Given the description of an element on the screen output the (x, y) to click on. 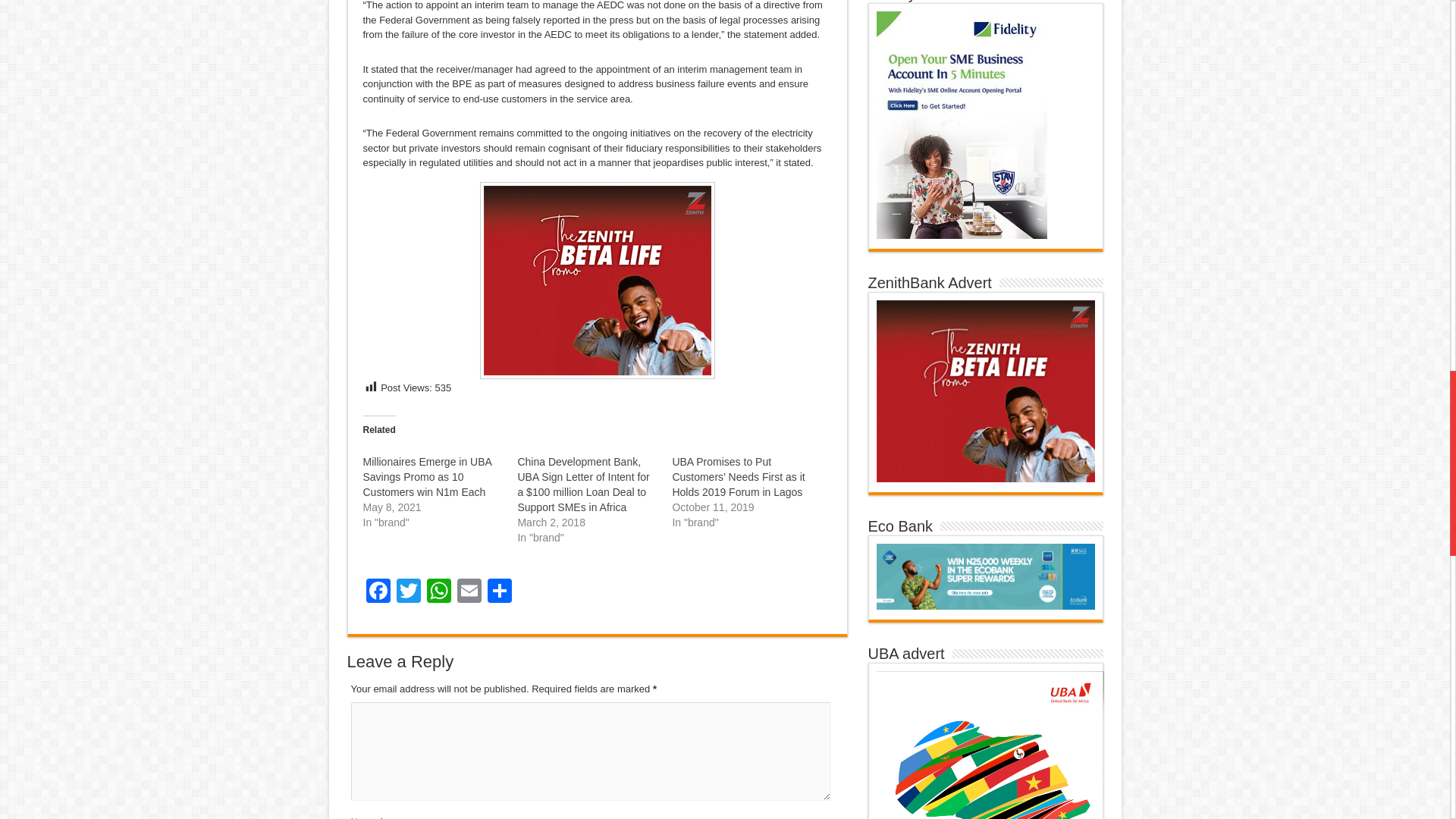
Facebook (377, 592)
Email (467, 592)
Twitter (408, 592)
WhatsApp (437, 592)
WhatsApp (437, 592)
Facebook (377, 592)
Twitter (408, 592)
Email (467, 592)
Share (498, 592)
